Given the description of an element on the screen output the (x, y) to click on. 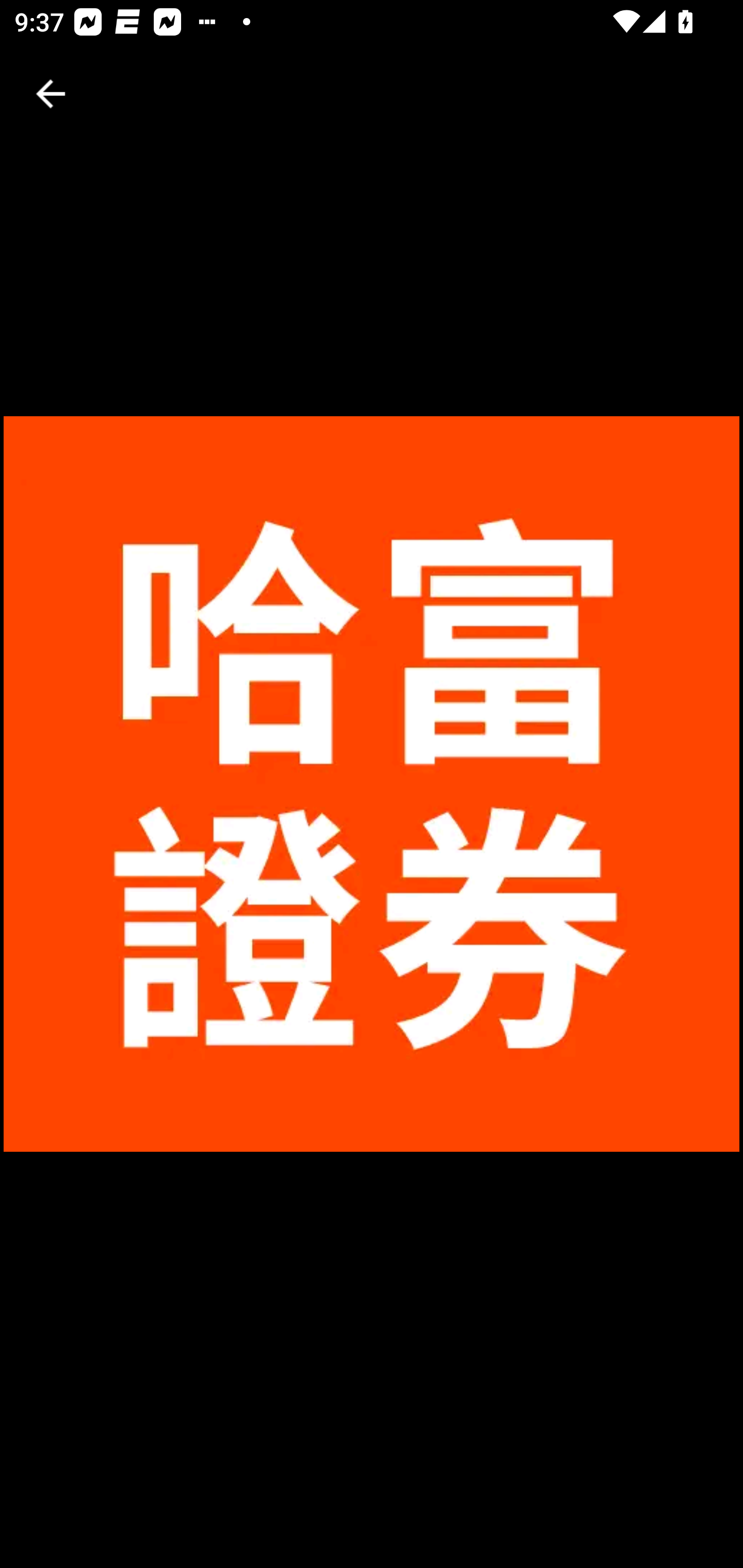
Back (50, 93)
